Given the description of an element on the screen output the (x, y) to click on. 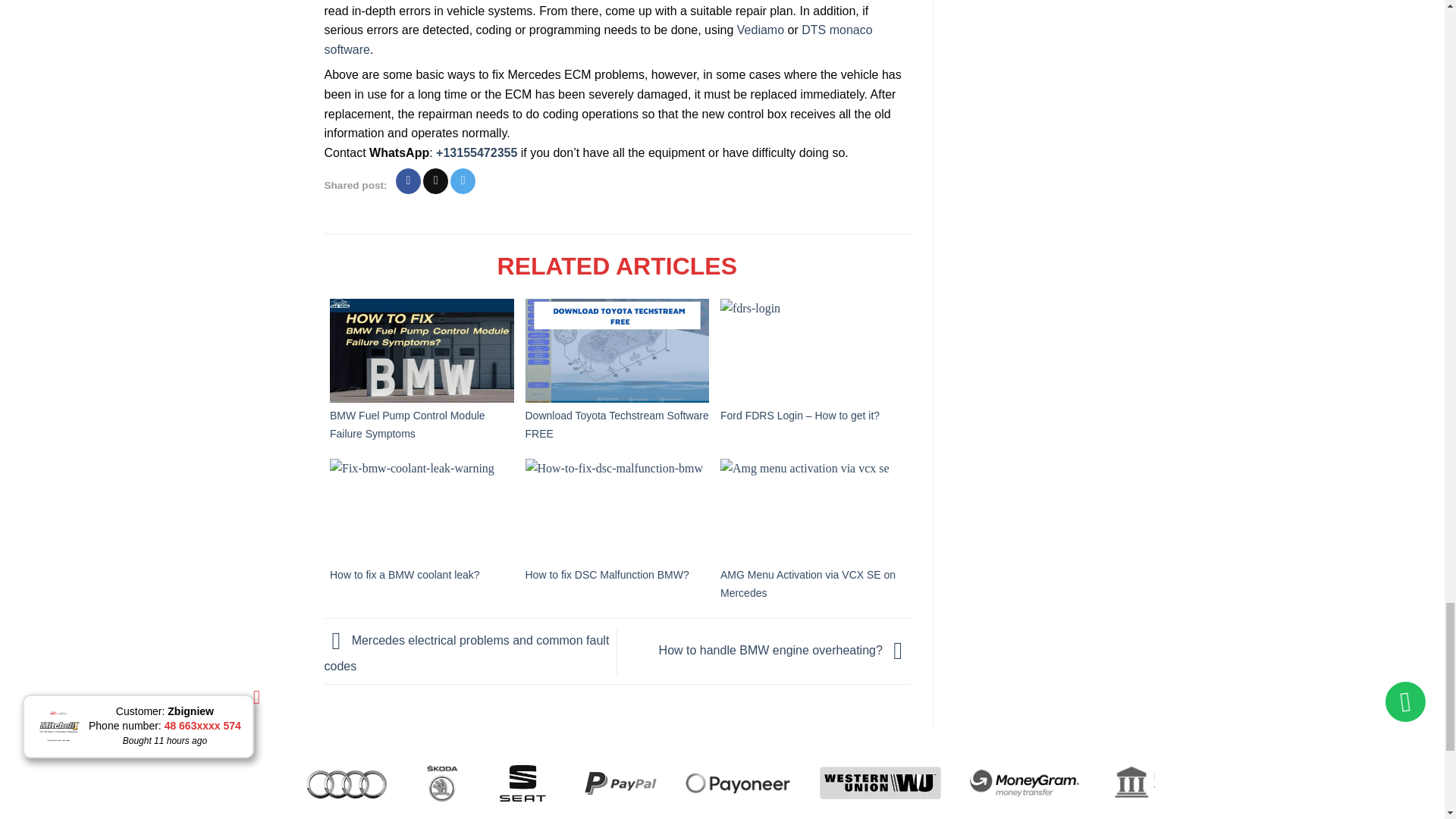
Bmw Fuel Pump Control Module Failure Symptoms 4 (421, 350)
Share on Facebook (408, 181)
Download Toyota Techstream Software Free 5 (616, 350)
Share on Telegram (462, 181)
Email to a Friend (435, 181)
